Given the description of an element on the screen output the (x, y) to click on. 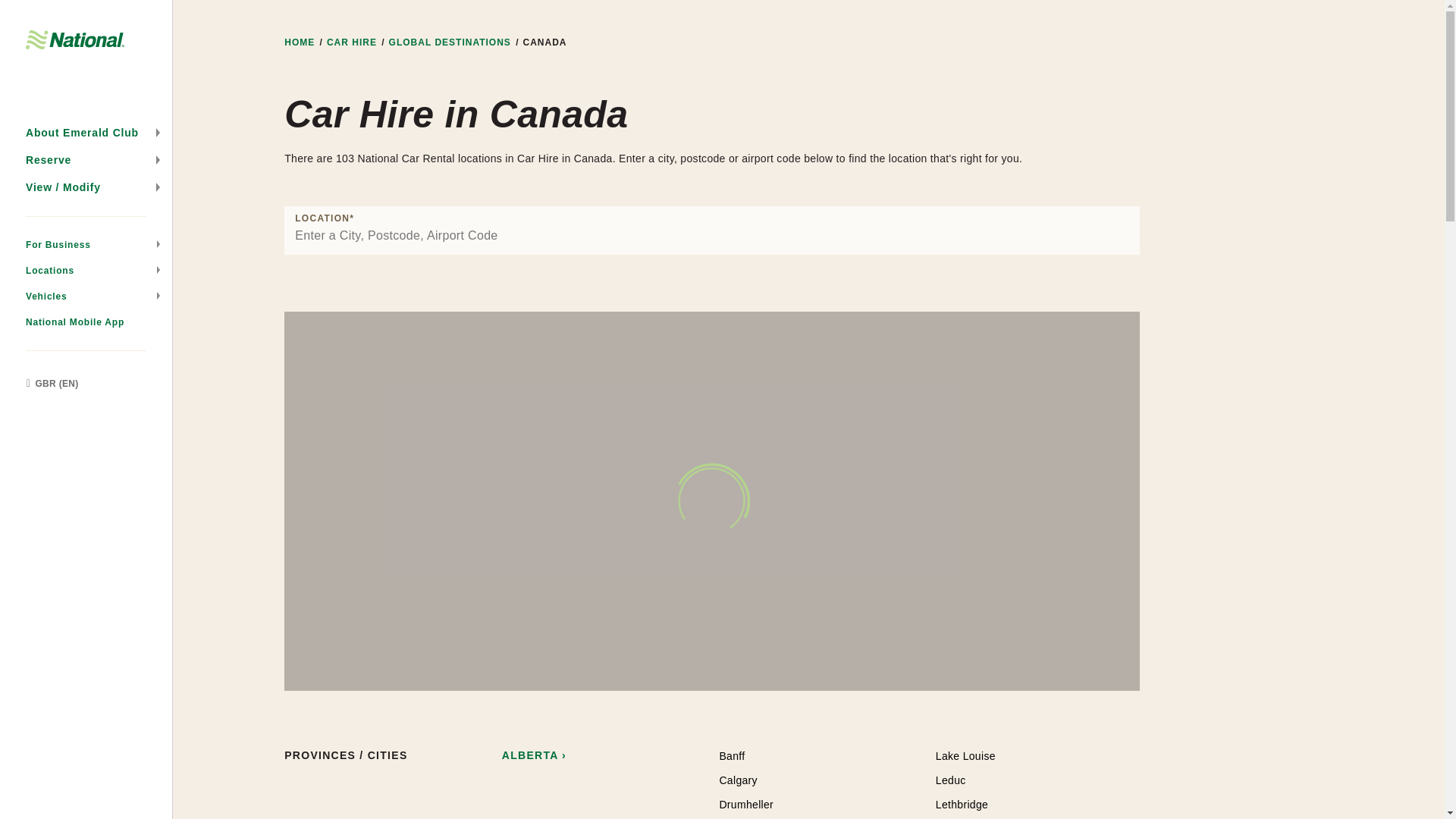
Vehicles (85, 296)
Locations (85, 270)
For Business (85, 244)
About Emerald Club (85, 132)
Reserve (85, 159)
National Mobile App (85, 321)
